Given the description of an element on the screen output the (x, y) to click on. 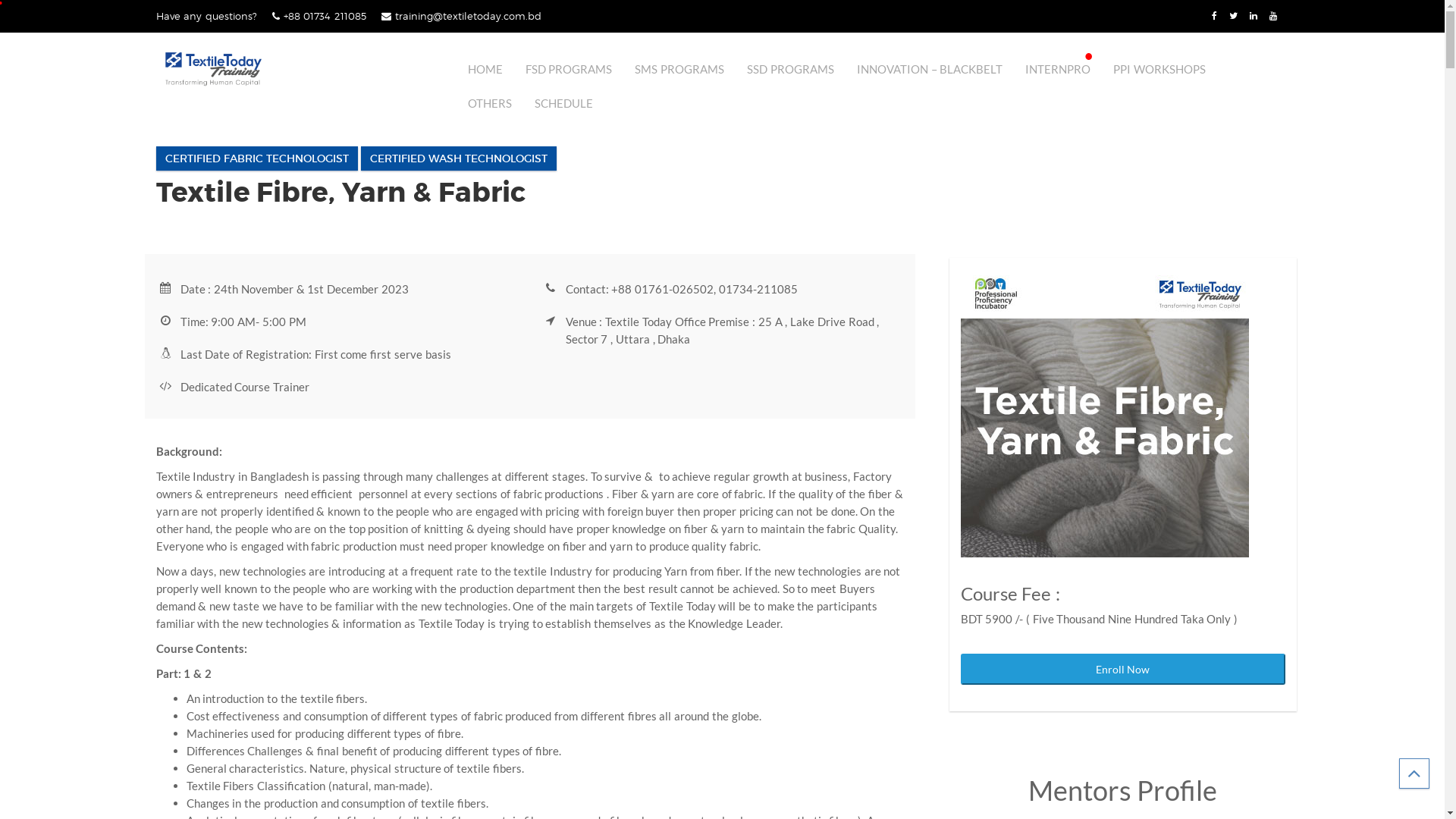
SCHEDULE Element type: text (562, 102)
Back to Top Element type: hover (1414, 773)
SMS PROGRAMS Element type: text (679, 68)
INTERNPRO Element type: text (1057, 68)
HOME Element type: text (484, 68)
Academia Element type: hover (212, 68)
CERTIFIED WASH TECHNOLOGIST Element type: text (458, 158)
Skip to content Element type: text (0, 0)
FSD PROGRAMS Element type: text (567, 68)
CERTIFIED FABRIC TECHNOLOGIST Element type: text (256, 158)
PPI WORKSHOPS Element type: text (1159, 68)
OTHERS Element type: text (489, 102)
Enroll Now Element type: text (1122, 668)
SSD PROGRAMS Element type: text (790, 68)
